Given the description of an element on the screen output the (x, y) to click on. 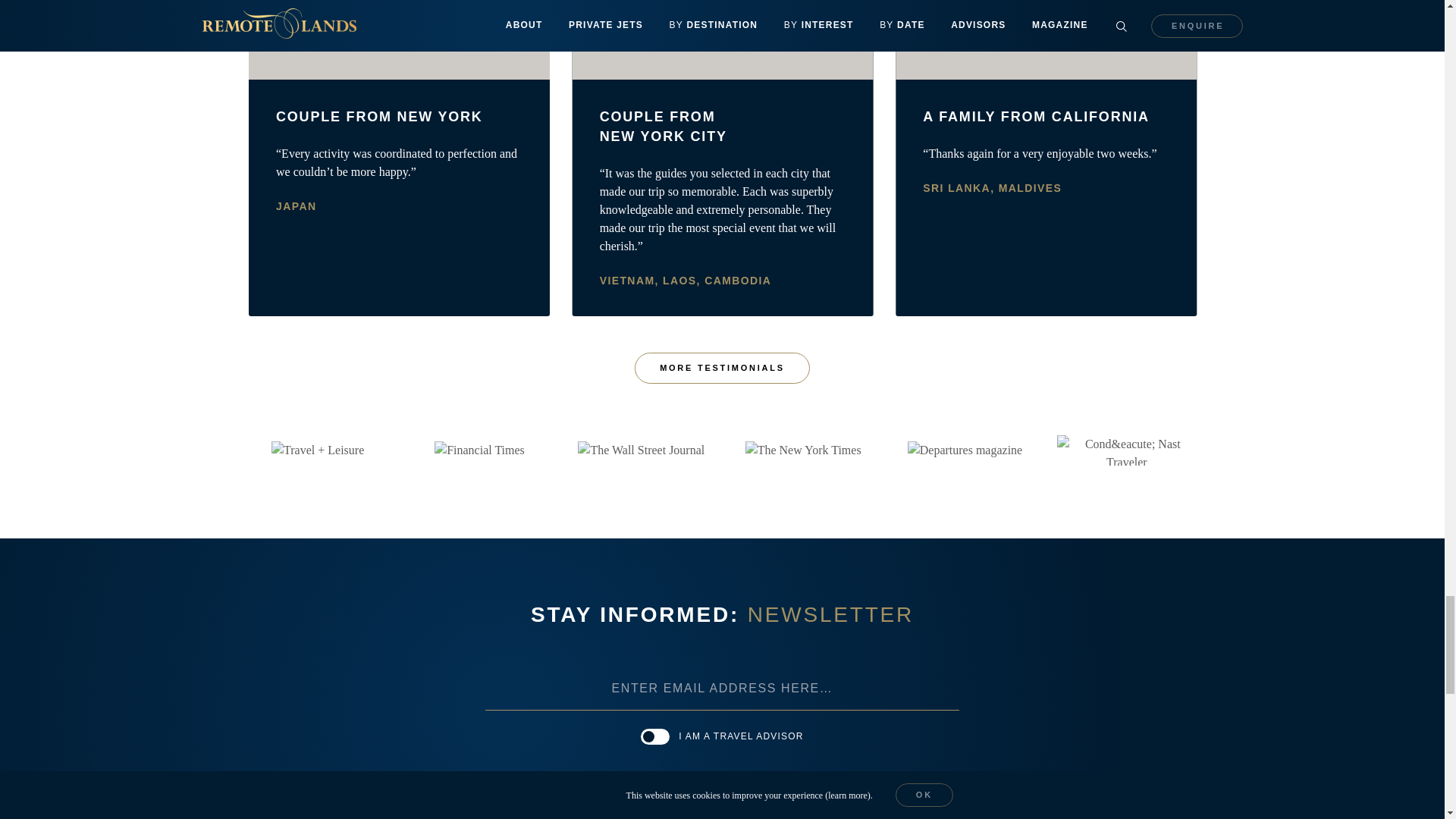
true (654, 736)
